Given the description of an element on the screen output the (x, y) to click on. 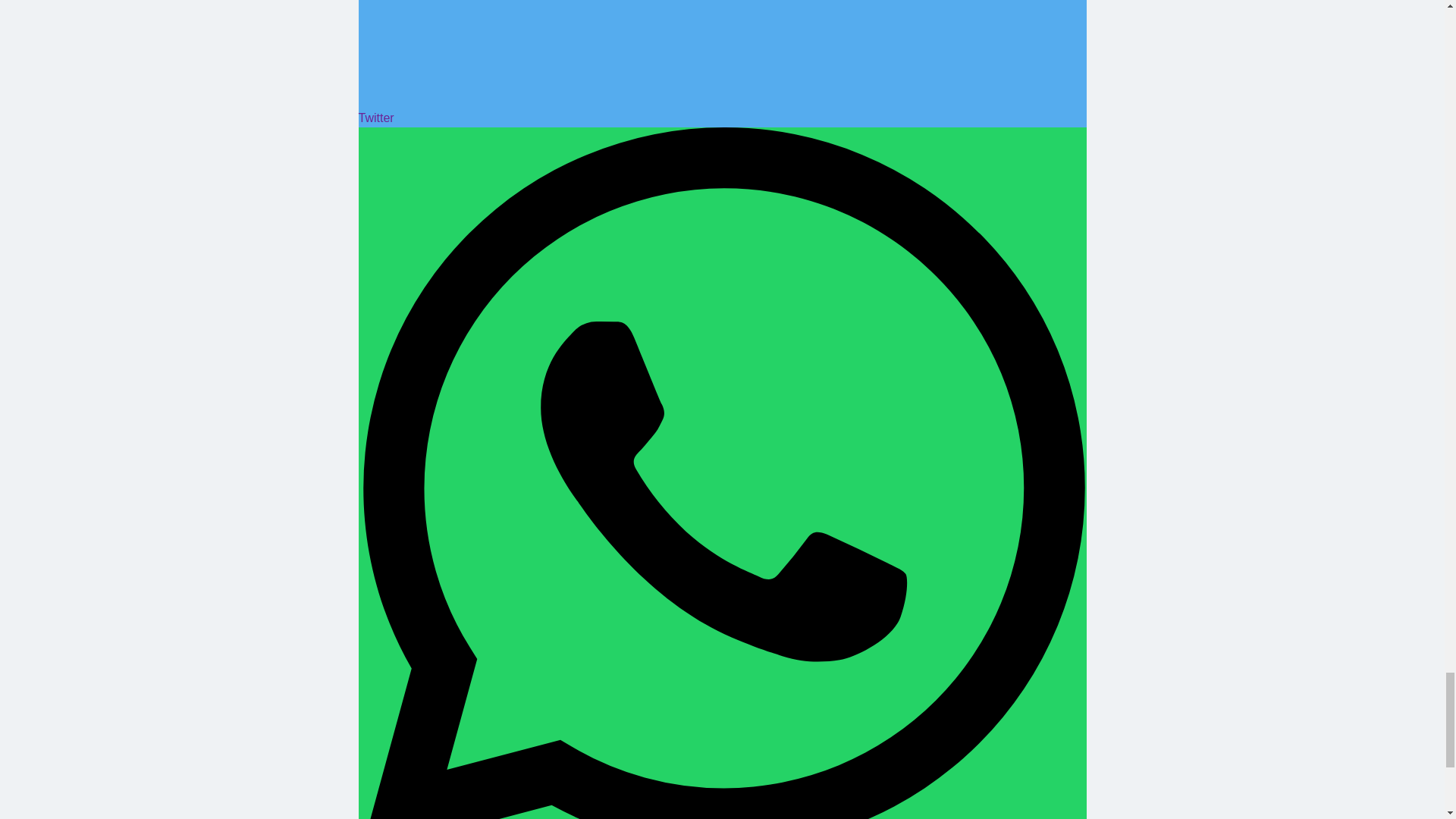
Twitter (722, 63)
